Given the description of an element on the screen output the (x, y) to click on. 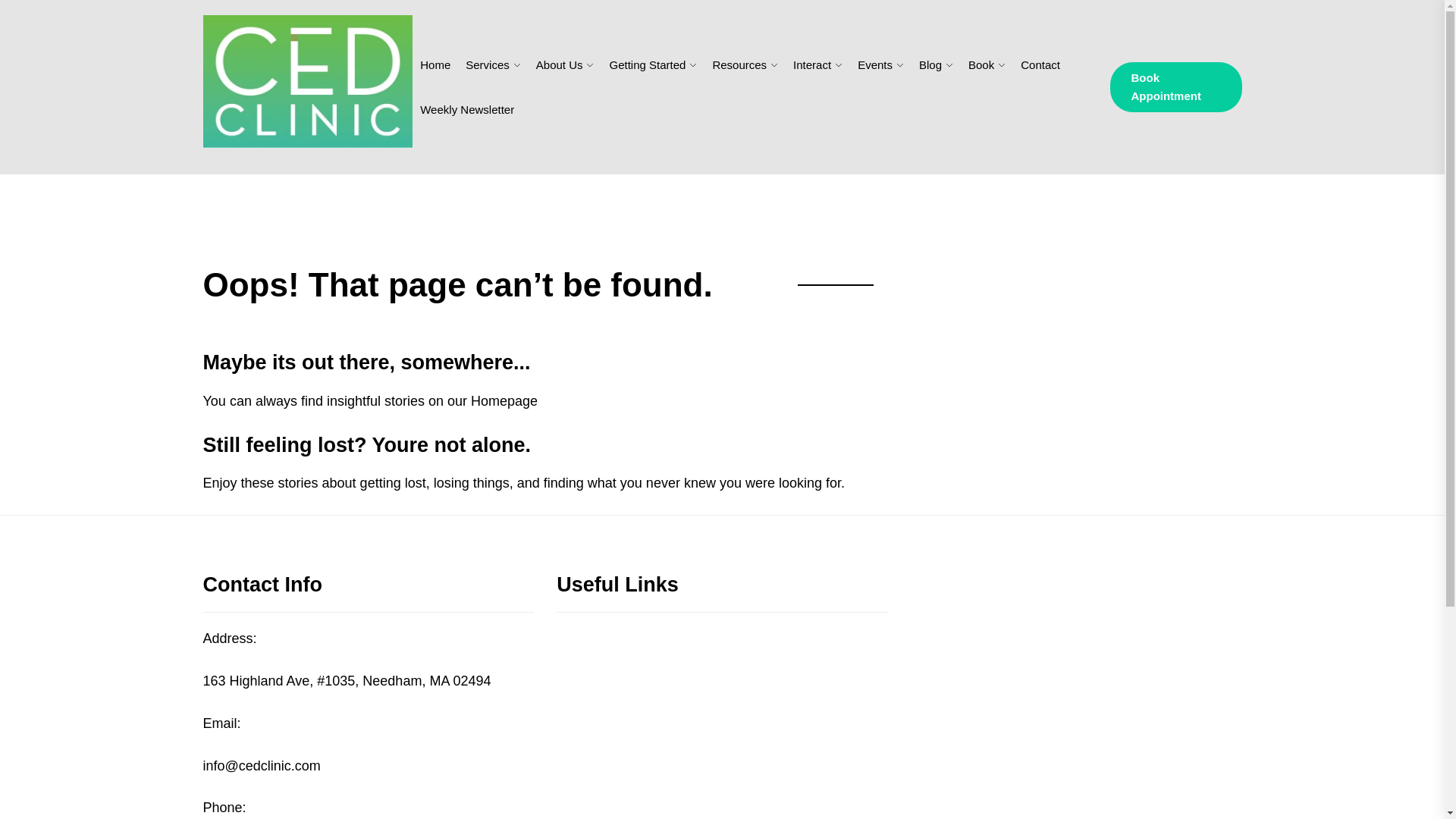
Home (434, 64)
Getting Started (646, 64)
Resources (739, 64)
Services (487, 64)
Interact (812, 64)
CED Clinic (260, 172)
Events (874, 64)
About Us (559, 64)
